Given the description of an element on the screen output the (x, y) to click on. 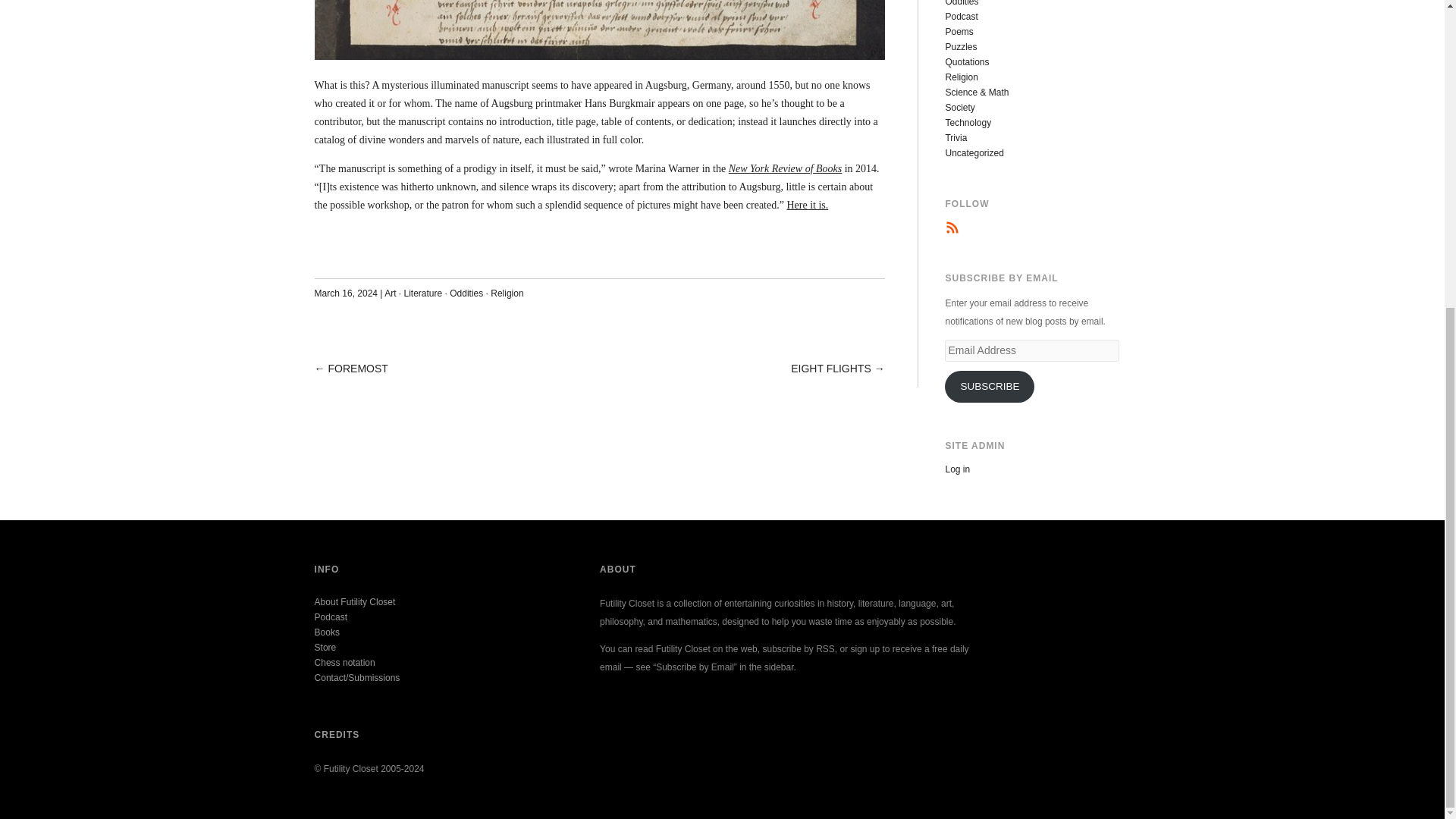
New York Review of Books (786, 168)
SUBSCRIBE (988, 386)
Technology (967, 122)
EIGHT FLIGHTS (830, 368)
Oddities (466, 293)
About Futility Closet (355, 602)
Log in (956, 469)
Religion (960, 77)
Quotations (966, 61)
Here it is. (807, 204)
